Given the description of an element on the screen output the (x, y) to click on. 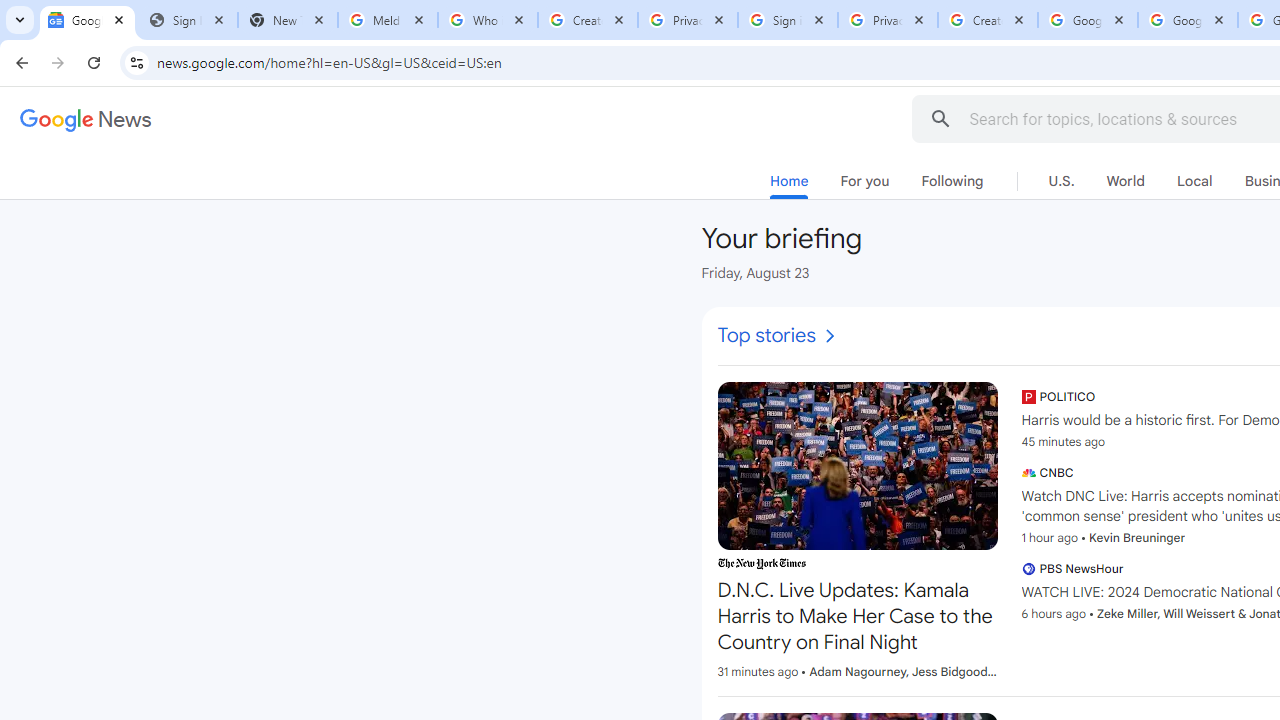
Local (1194, 181)
